Given the description of an element on the screen output the (x, y) to click on. 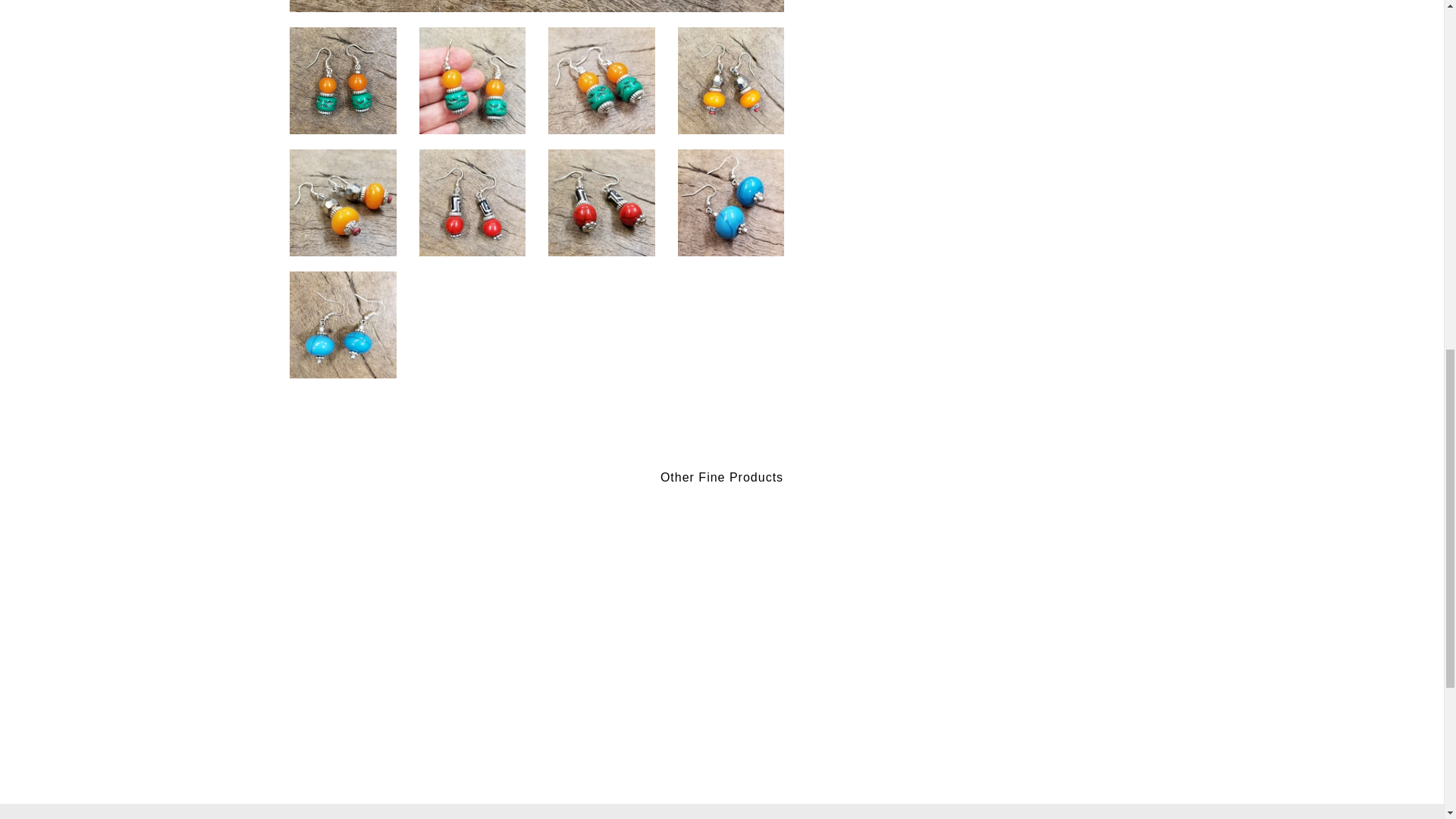
Nepalese Beaded Earring, Assorted Styles (601, 80)
Nepalese Beaded Earring, Assorted Styles (601, 202)
Nepalese Beaded Earring, Assorted Styles (342, 324)
Nepalese Beaded Earring, Assorted Styles (472, 202)
Nepalese Beaded Earring, Assorted Styles (731, 202)
Nepalese Beaded Earring, Assorted Styles (342, 80)
Nepalese Beaded Earring, Assorted Styles (731, 80)
Nepalese Beaded Earring, Assorted Styles (342, 202)
Nepalese Beaded Earring, Assorted Styles (472, 80)
